Given the description of an element on the screen output the (x, y) to click on. 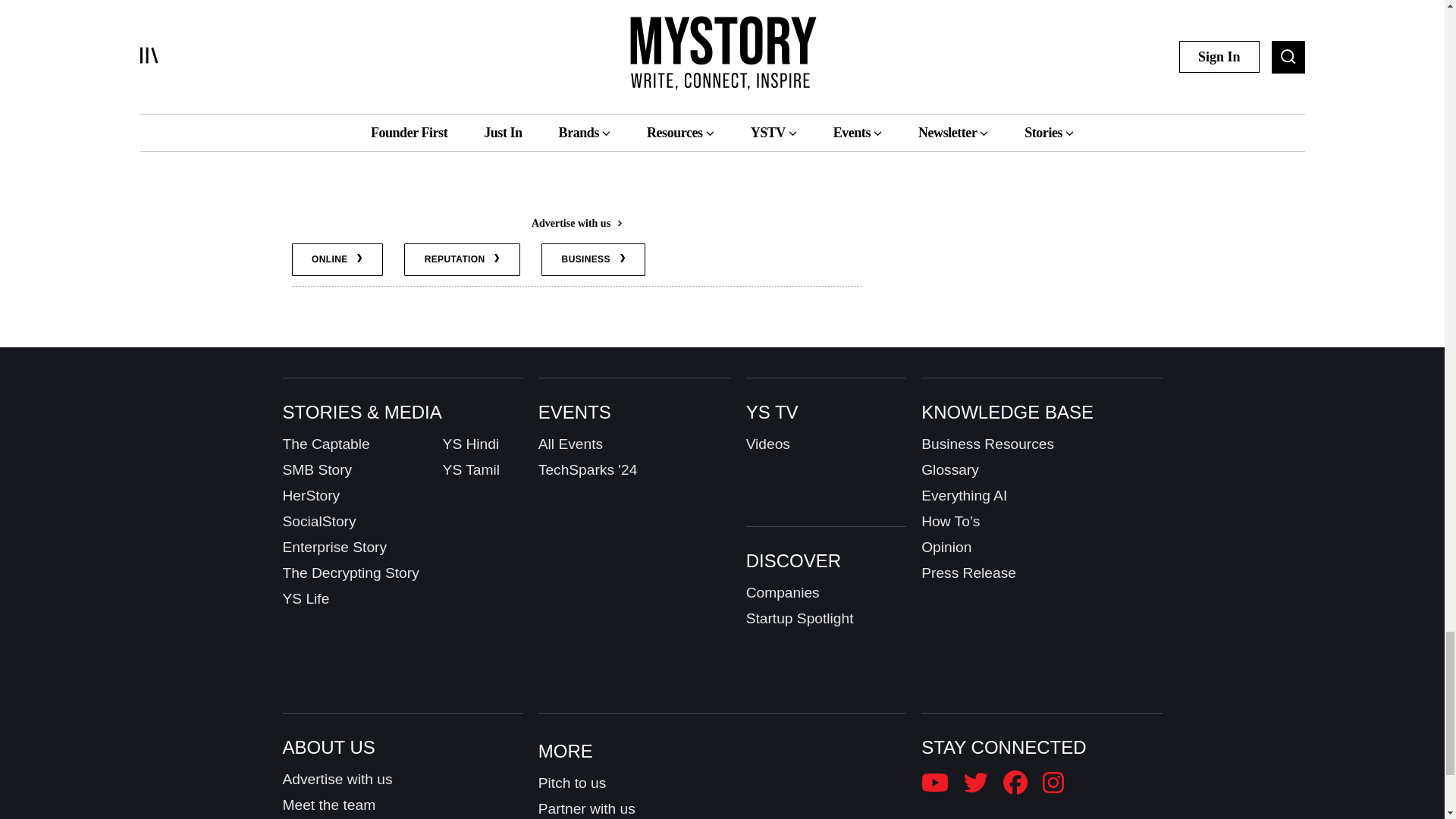
REPUTATION (461, 259)
ONLINE (336, 259)
3rd party ad content (575, 177)
BUSINESS (593, 259)
Advertise with us (576, 222)
